Given the description of an element on the screen output the (x, y) to click on. 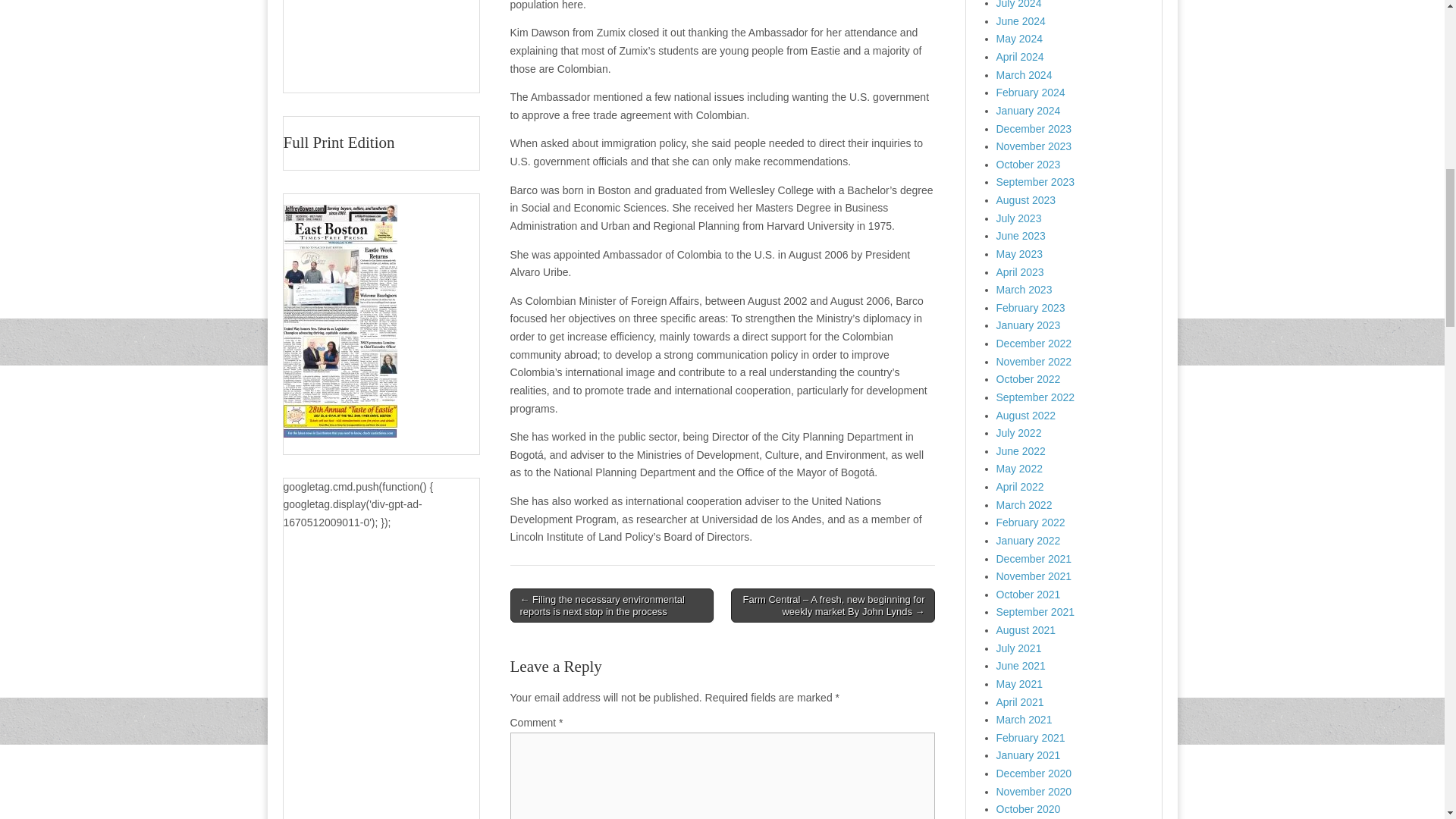
May 2024 (1018, 38)
June 2024 (1020, 21)
February 2024 (1030, 92)
April 2024 (1019, 56)
July 2024 (1018, 4)
March 2024 (1023, 74)
